Given the description of an element on the screen output the (x, y) to click on. 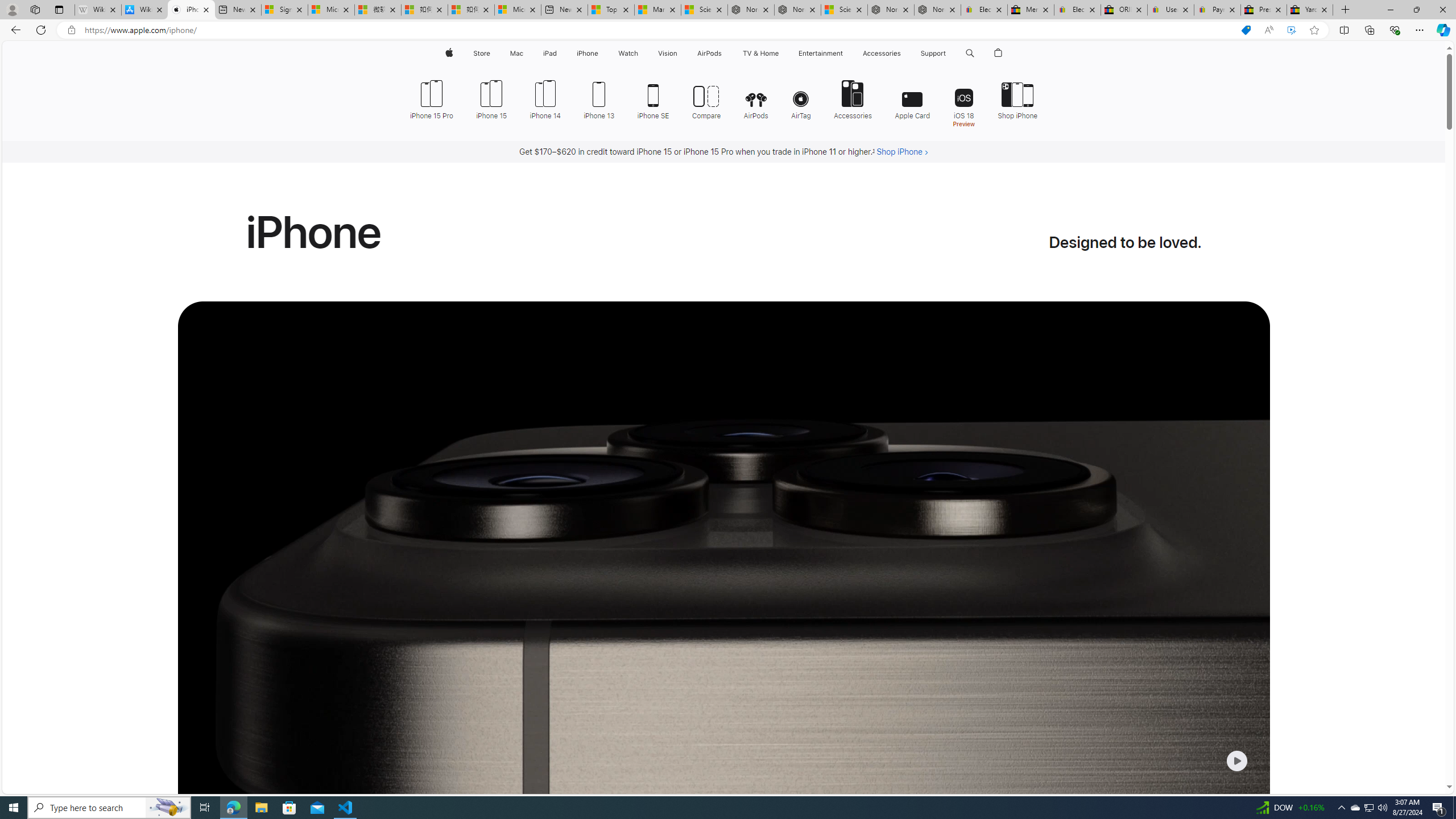
iPhone (587, 53)
AutomationID: globalnav-bag (998, 53)
Store (481, 53)
Mac (516, 53)
Mac menu (524, 53)
Shopping Bag (998, 53)
Vision (667, 53)
Footnote 1 (873, 151)
